Given the description of an element on the screen output the (x, y) to click on. 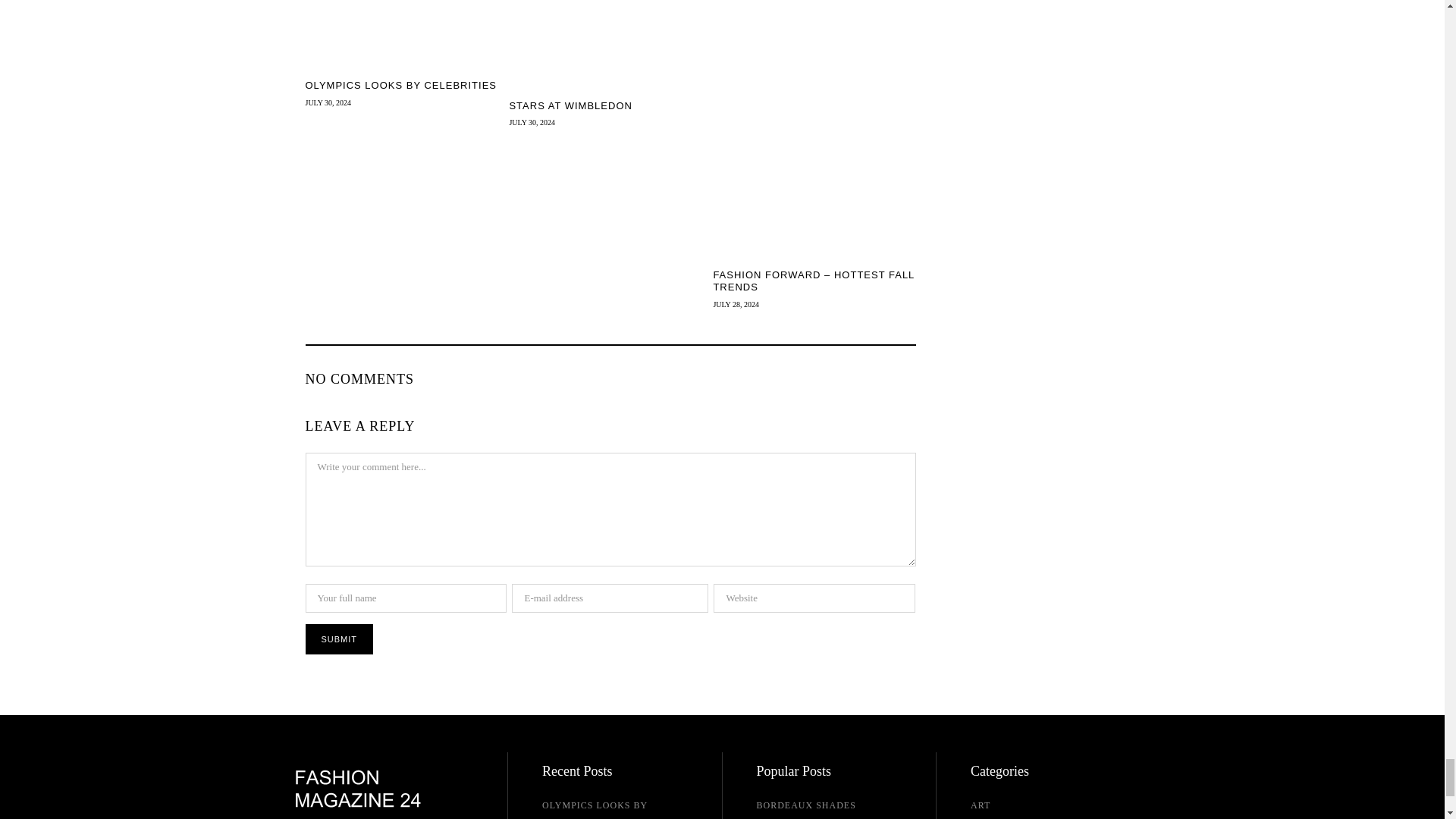
Submit (338, 639)
Stars at Wimbledon (609, 105)
Olympics Looks By Celebrities (405, 85)
